Given the description of an element on the screen output the (x, y) to click on. 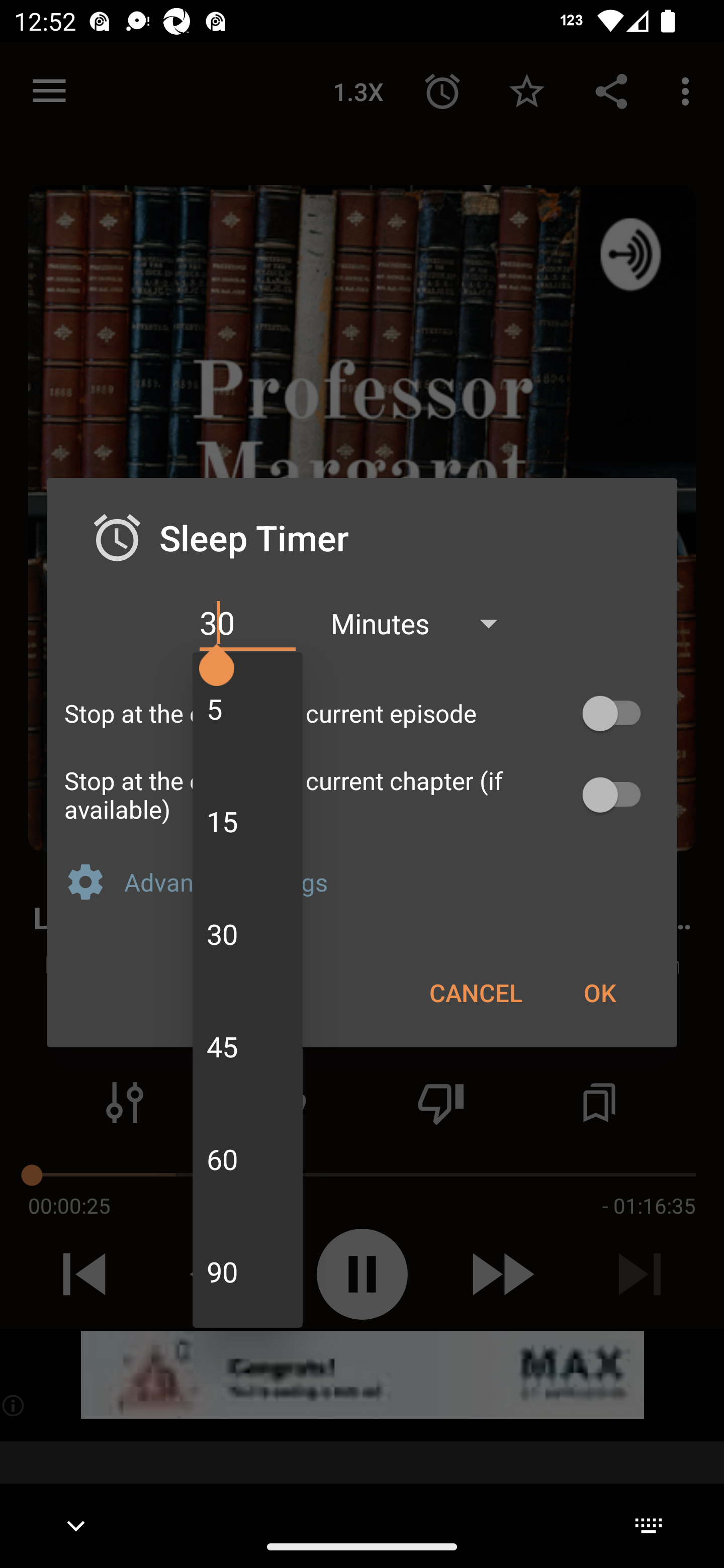
30 (247, 623)
Minutes (423, 623)
Stop at the end of the current episode (361, 712)
Advanced settings (391, 881)
CANCEL (475, 992)
OK (599, 992)
